Given the description of an element on the screen output the (x, y) to click on. 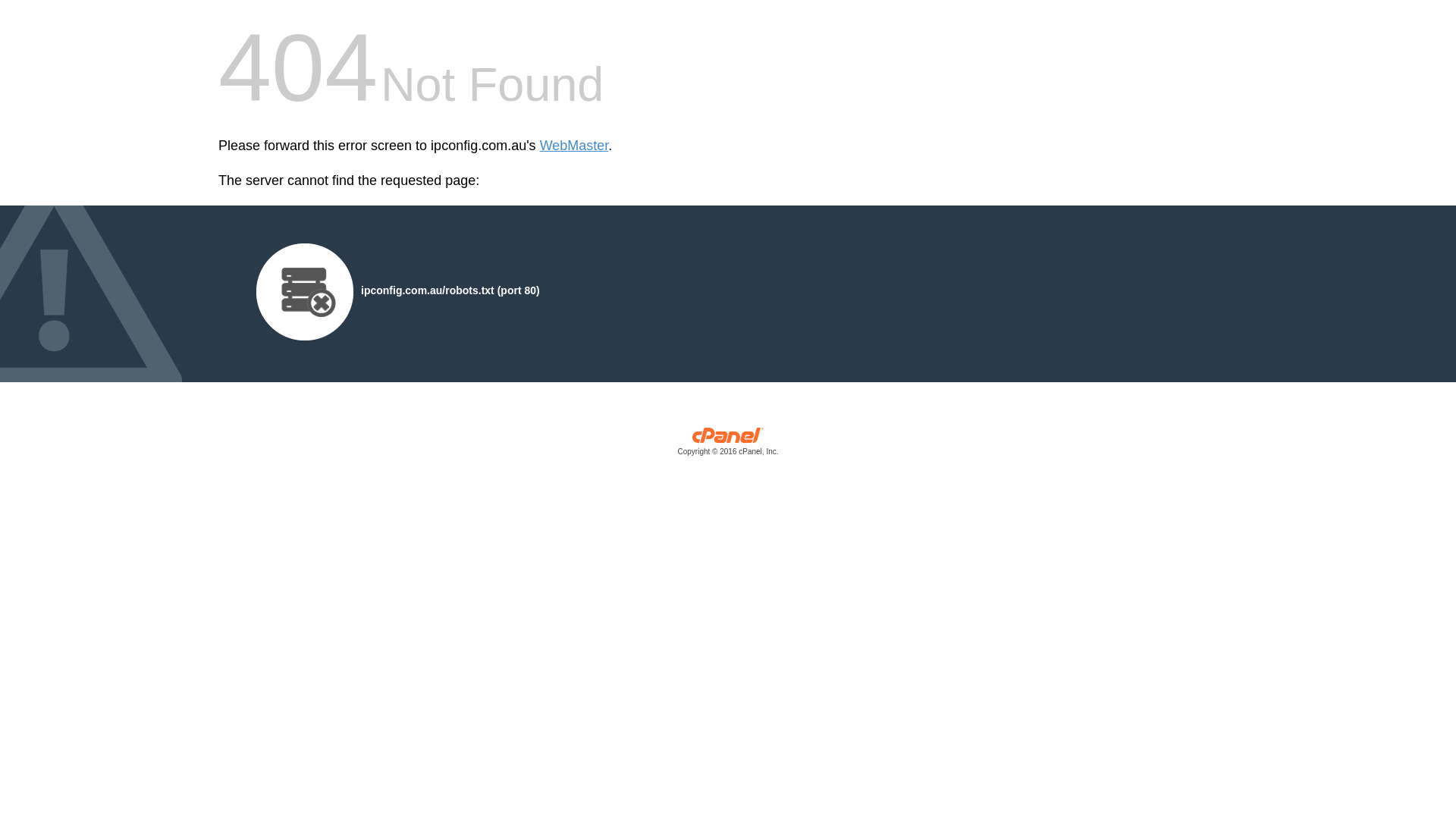
WebMaster Element type: text (573, 145)
